Given the description of an element on the screen output the (x, y) to click on. 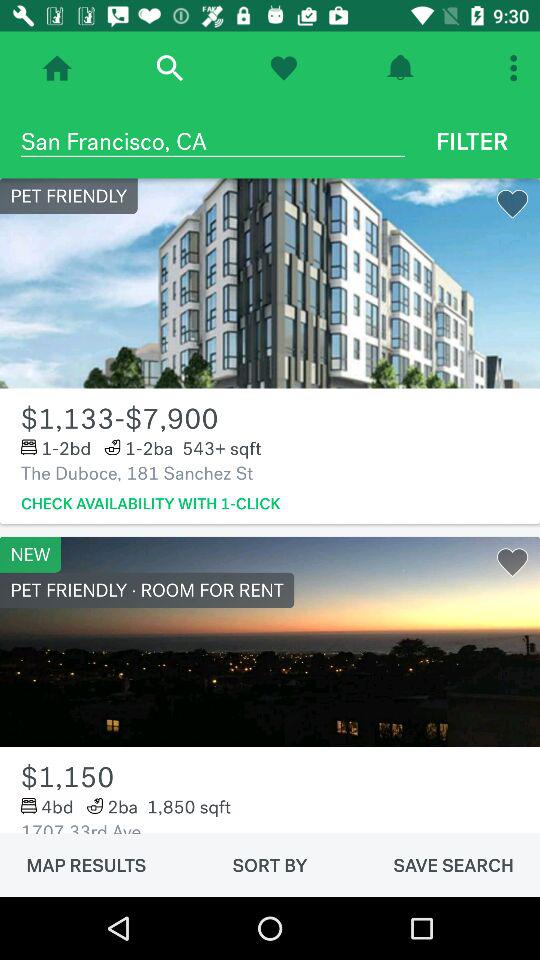
show favorite property (283, 68)
